Given the description of an element on the screen output the (x, y) to click on. 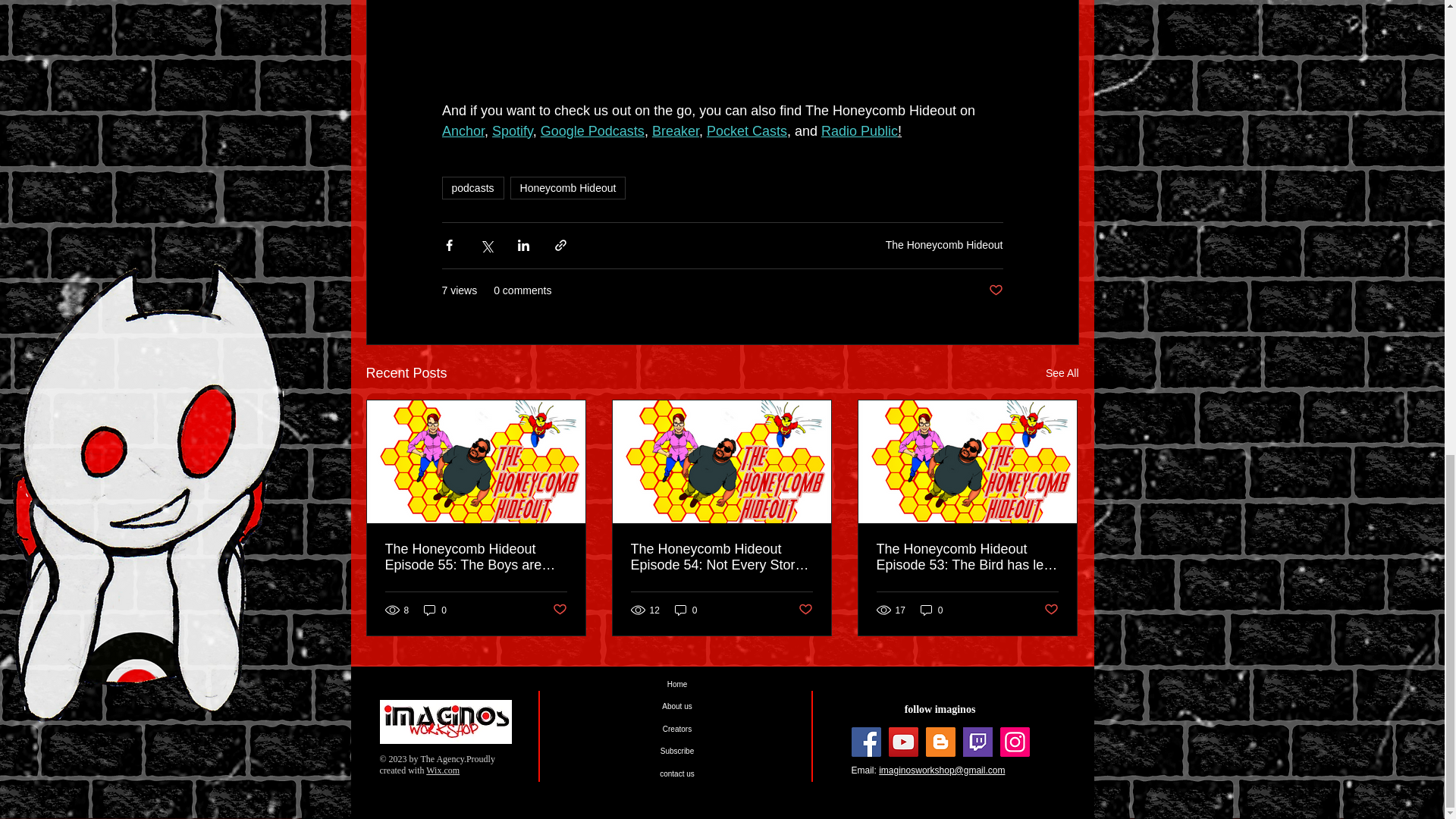
Anchor (462, 130)
